Given the description of an element on the screen output the (x, y) to click on. 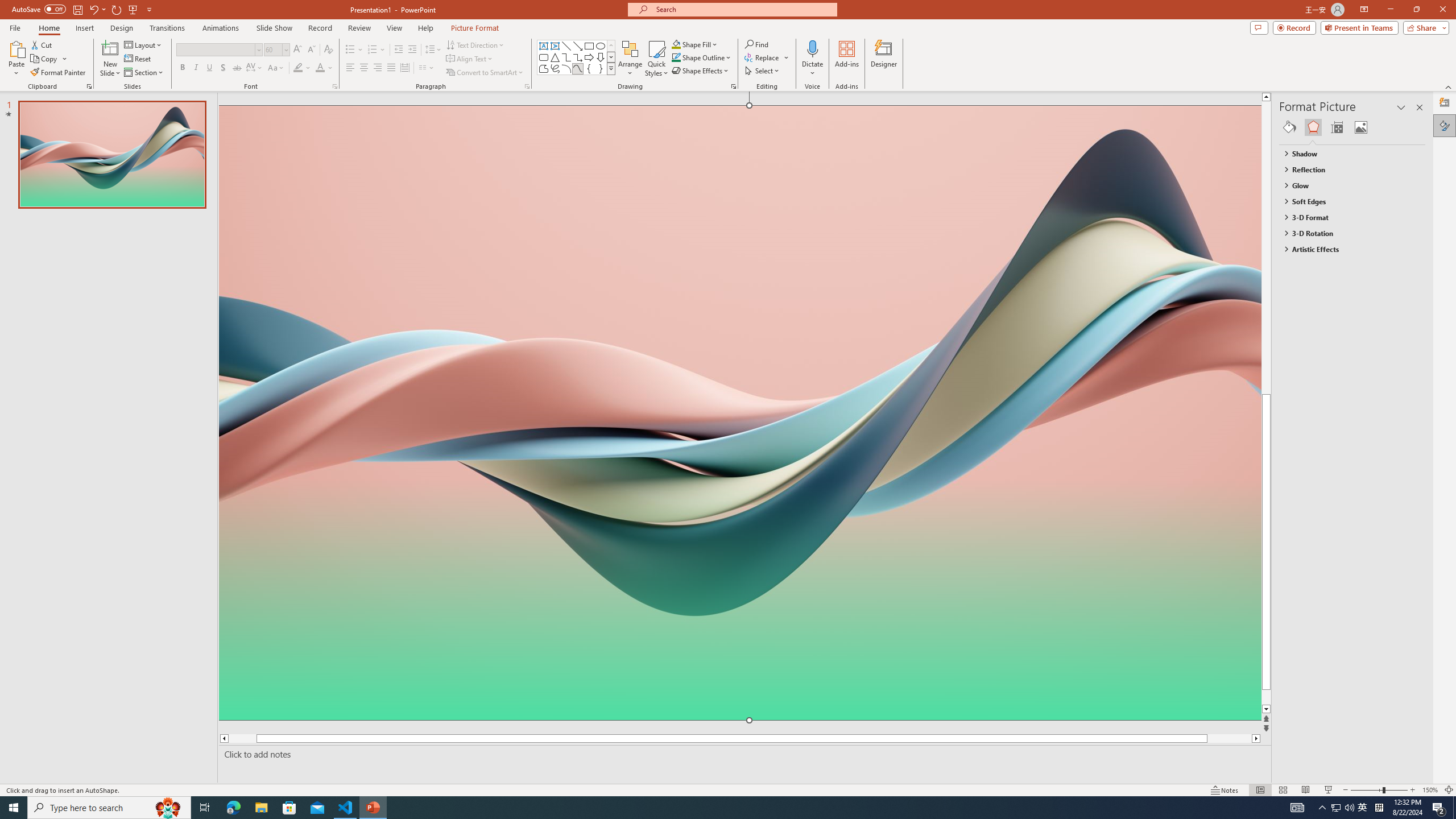
Picture Format (475, 28)
3-D Rotation (1347, 232)
Class: NetUIGalleryContainer (1352, 126)
Decorative Locked (739, 579)
